Given the description of an element on the screen output the (x, y) to click on. 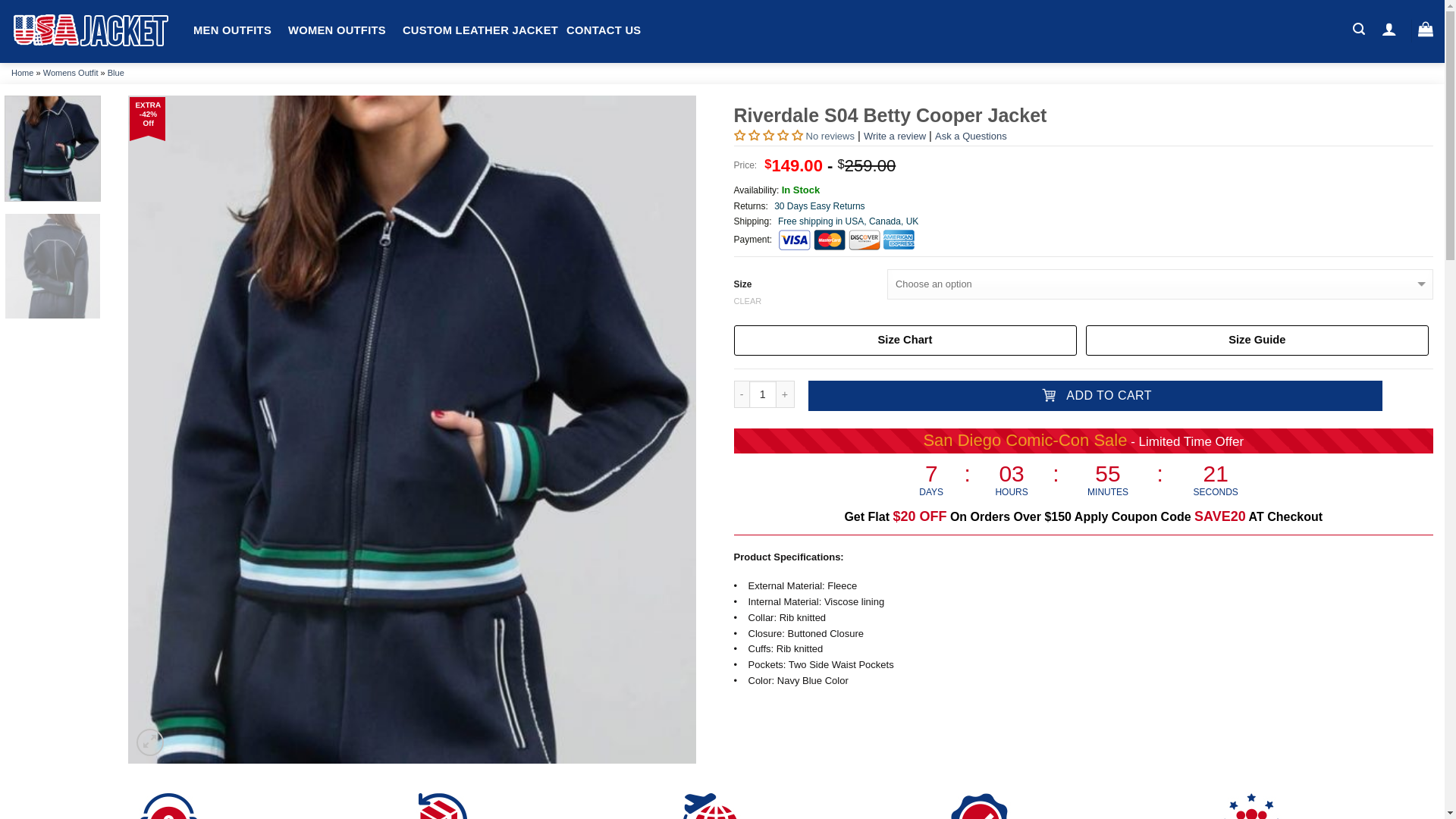
Womens Outfit (71, 71)
MEN OUTFITS (231, 30)
Qty (762, 393)
Riverdale Season 04 Lili Reinhart Jacket (52, 267)
Home (22, 71)
Write a review (894, 135)
ADD TO CART (1094, 395)
- (741, 393)
Size Guide (1257, 340)
CONTACT US (603, 30)
CLEAR (1083, 300)
USA Jacket - Wrap Yourself In Jackets (90, 31)
CUSTOM LEATHER JACKET (480, 30)
